Given the description of an element on the screen output the (x, y) to click on. 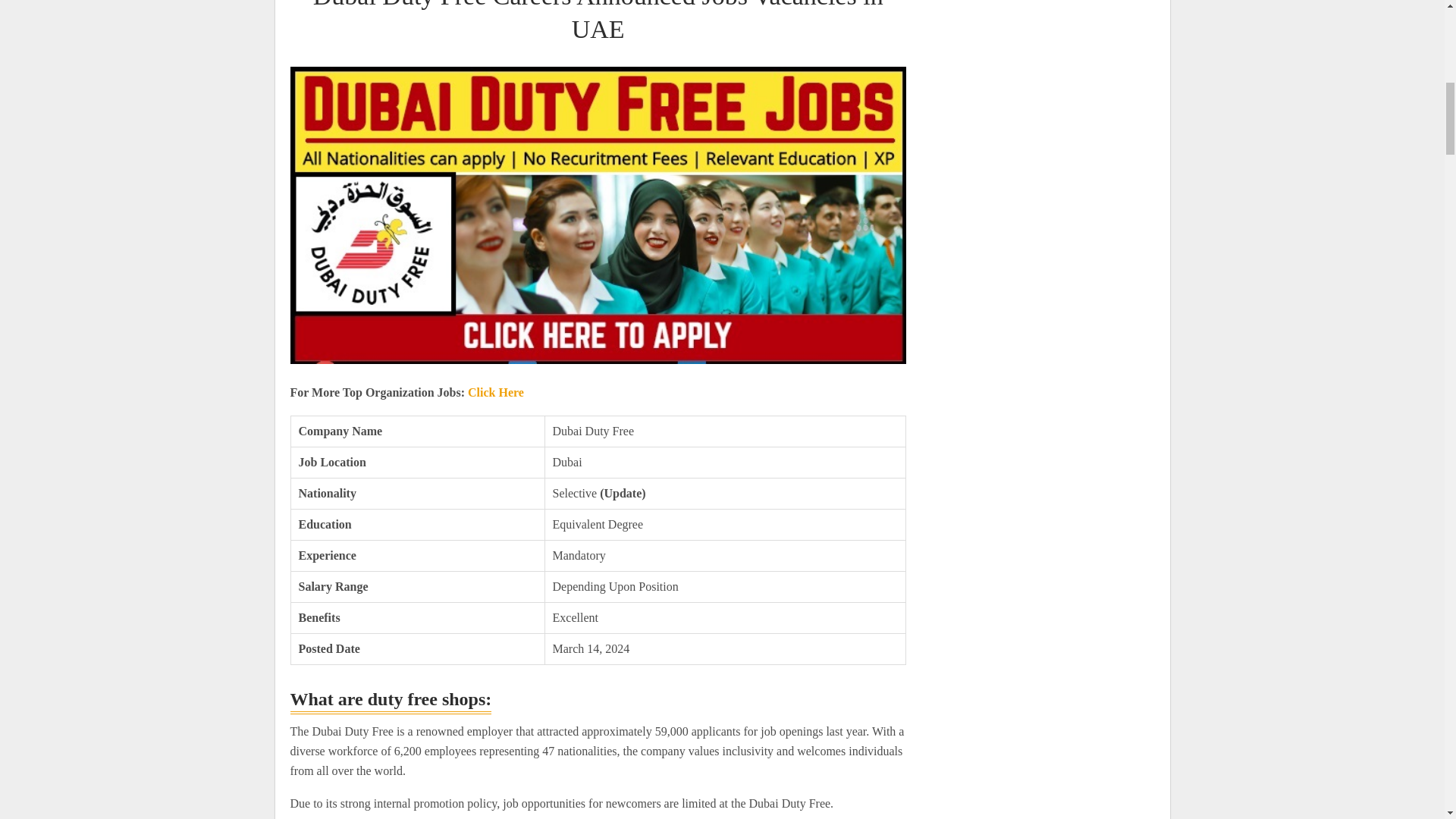
Click Here (495, 391)
